Given the description of an element on the screen output the (x, y) to click on. 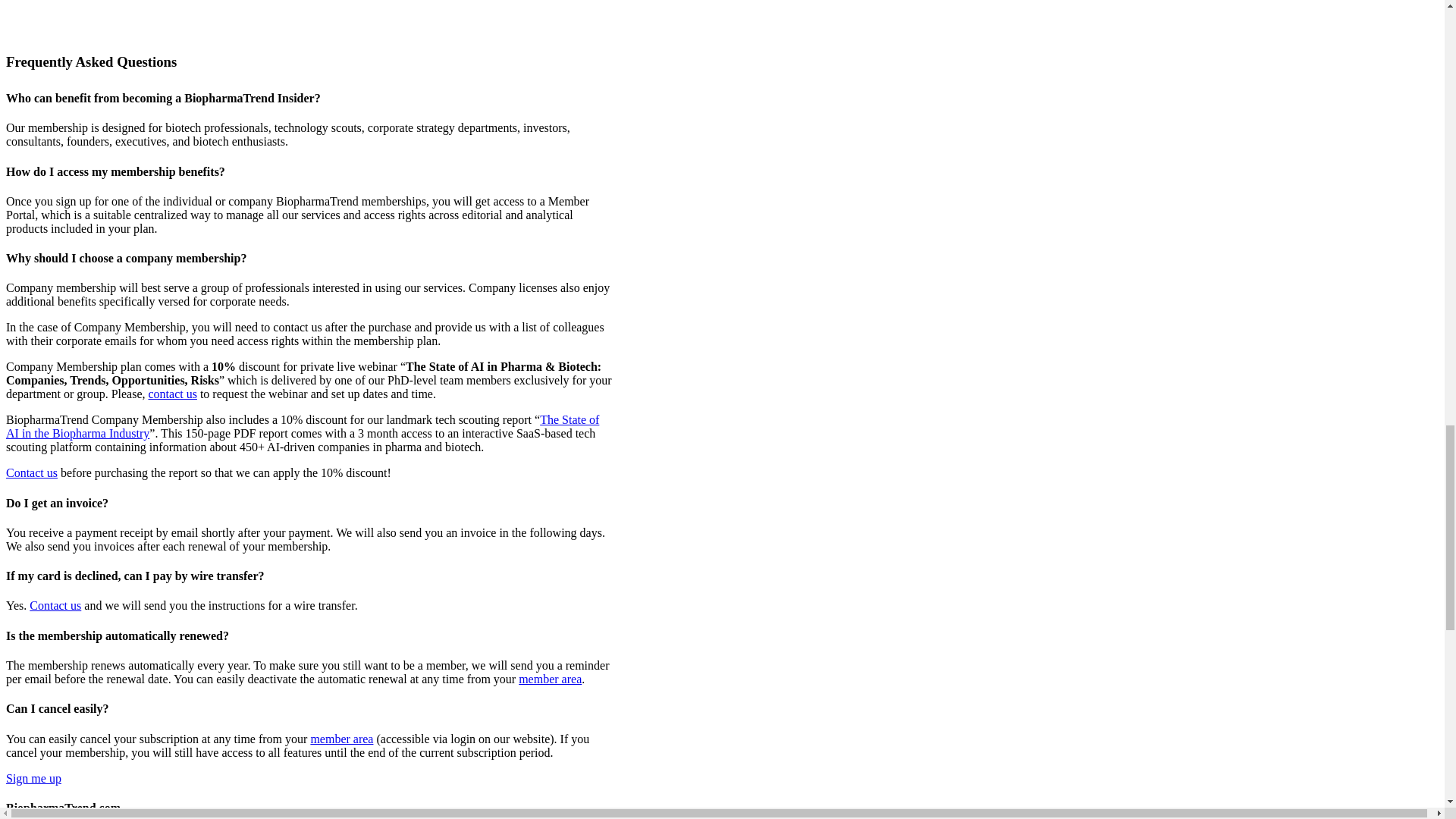
Contact us (31, 472)
Contact us (55, 604)
contact us (172, 393)
The State of AI in the Biopharma Industry (301, 426)
member area (549, 678)
